Given the description of an element on the screen output the (x, y) to click on. 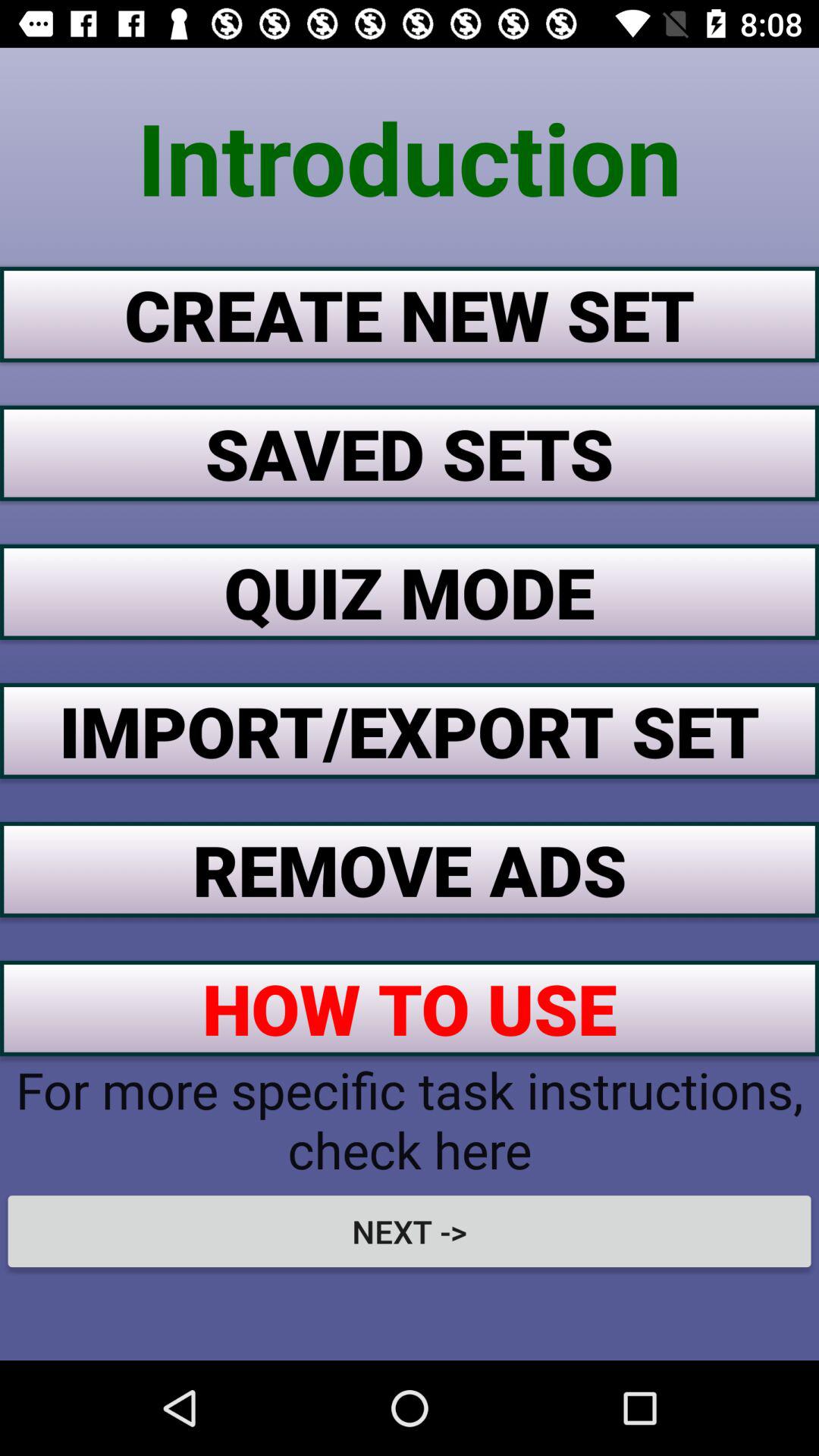
click item above saved sets item (409, 314)
